Given the description of an element on the screen output the (x, y) to click on. 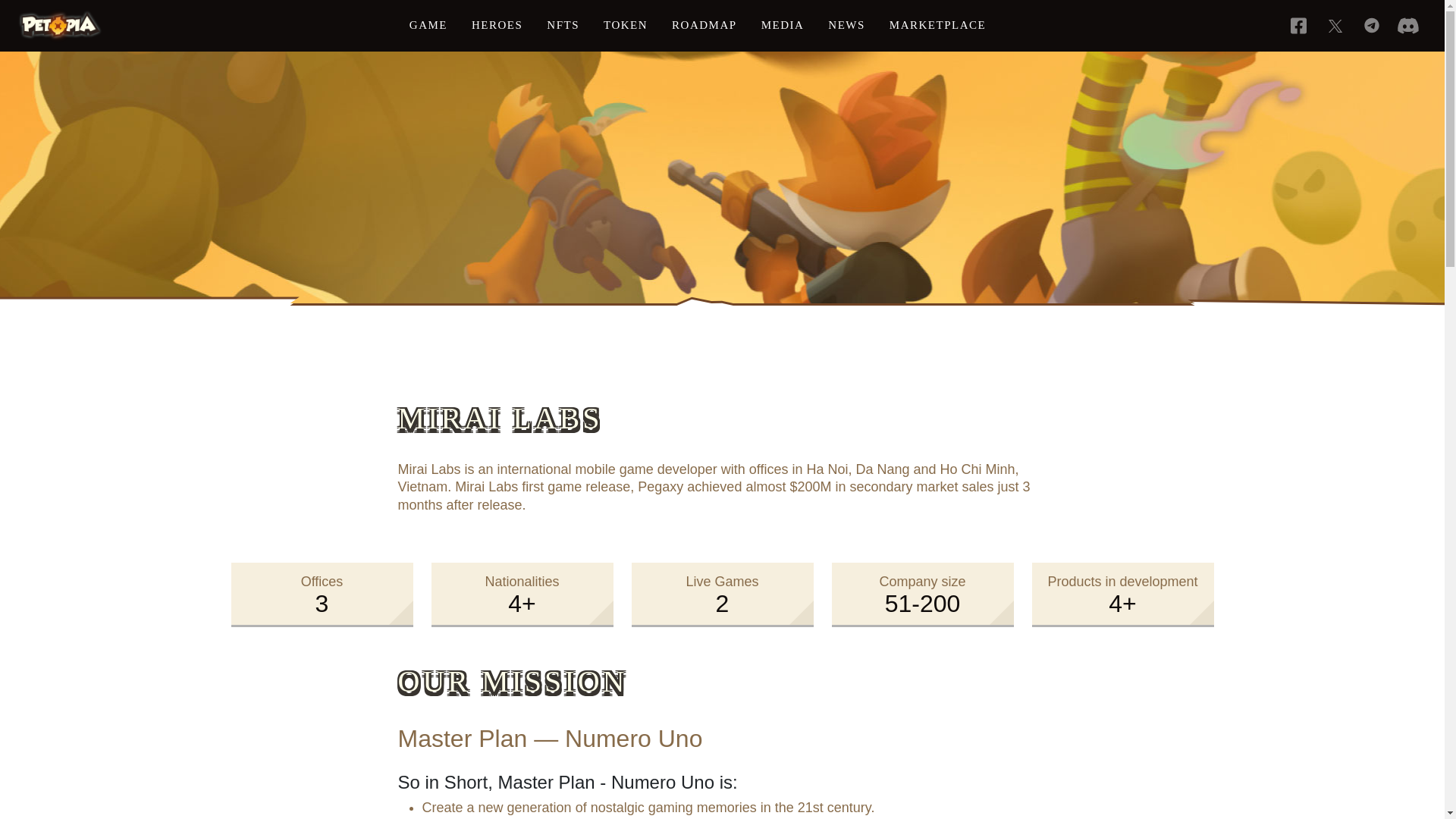
TOKEN (625, 25)
GAME (428, 25)
MARKETPLACE (937, 25)
HEROES (497, 25)
ROADMAP (704, 25)
MEDIA (782, 25)
NEWS (846, 25)
NFTS (562, 25)
